Given the description of an element on the screen output the (x, y) to click on. 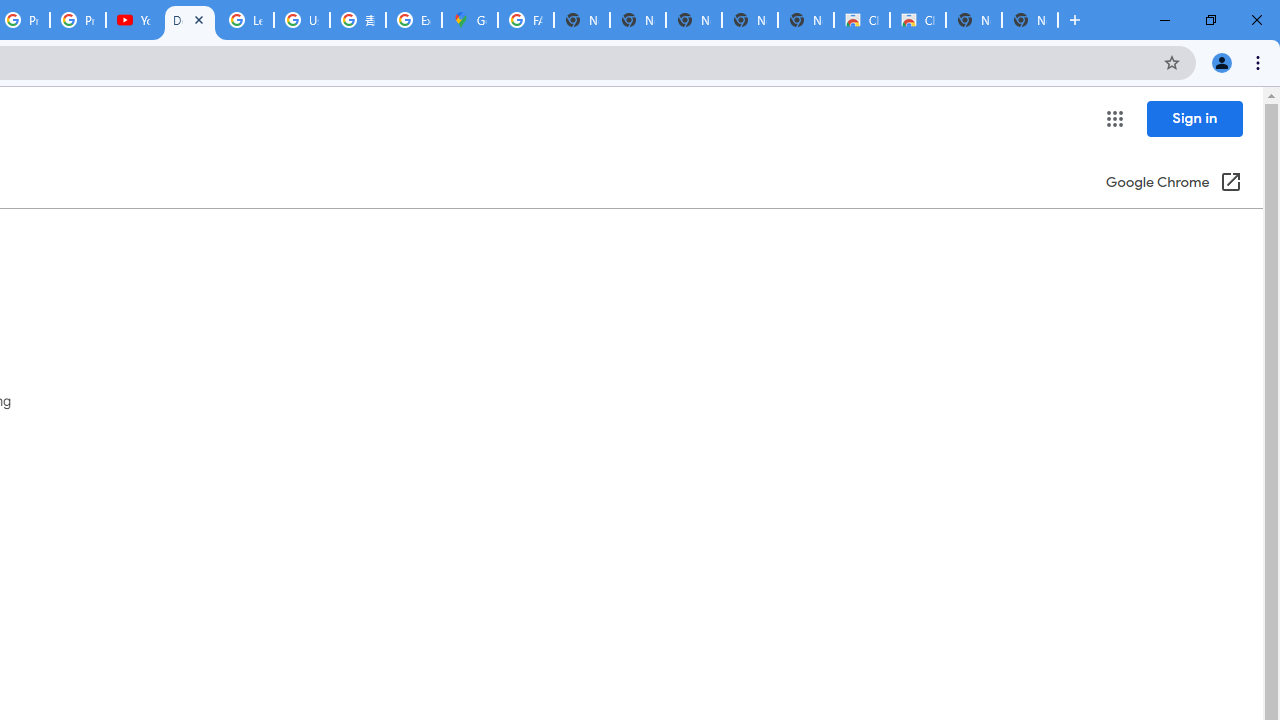
YouTube (134, 20)
Classic Blue - Chrome Web Store (917, 20)
Classic Blue - Chrome Web Store (861, 20)
New Tab (1030, 20)
Privacy Checkup (77, 20)
Google Maps (469, 20)
